Given the description of an element on the screen output the (x, y) to click on. 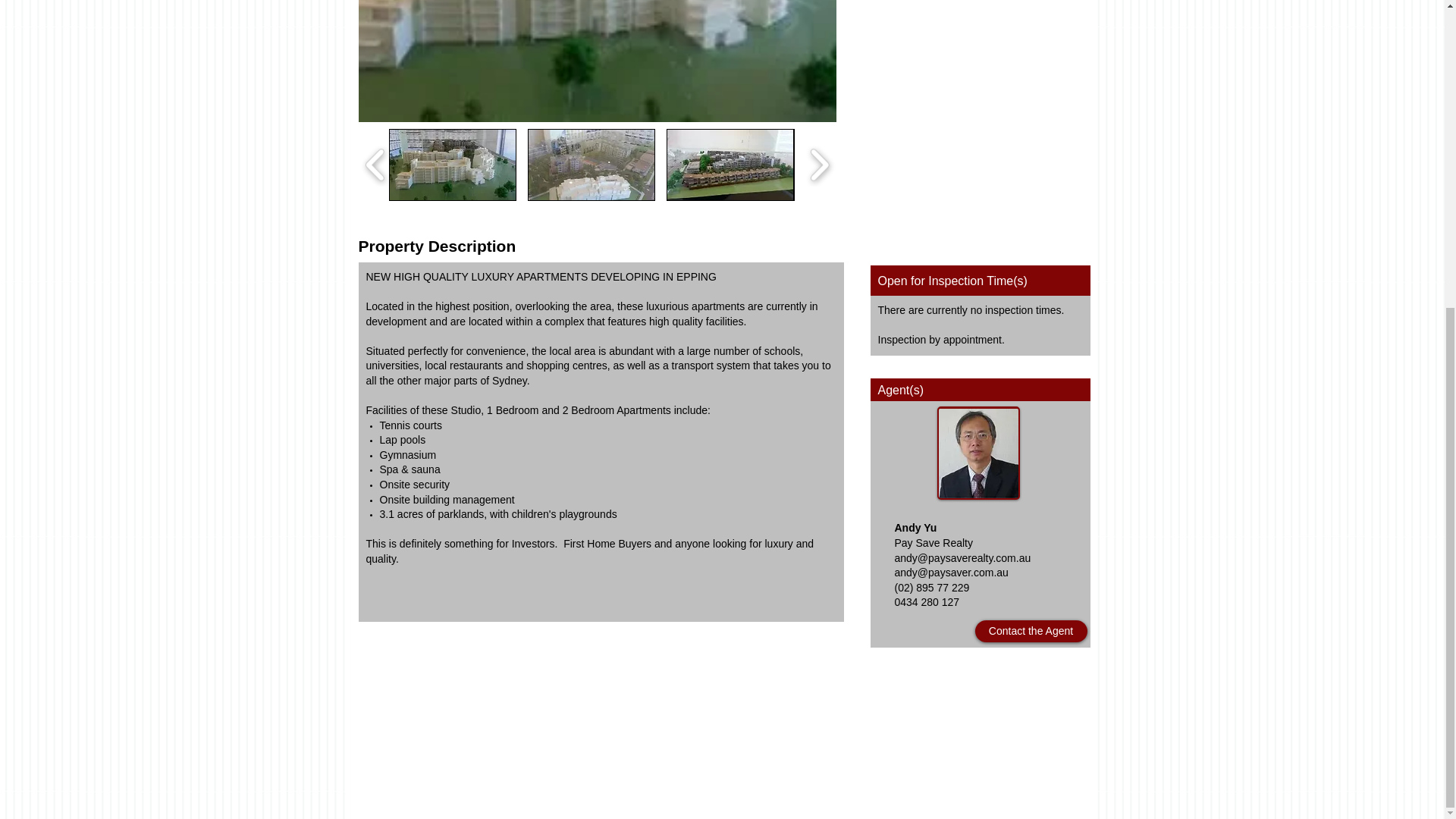
Google Maps (980, 103)
